Given the description of an element on the screen output the (x, y) to click on. 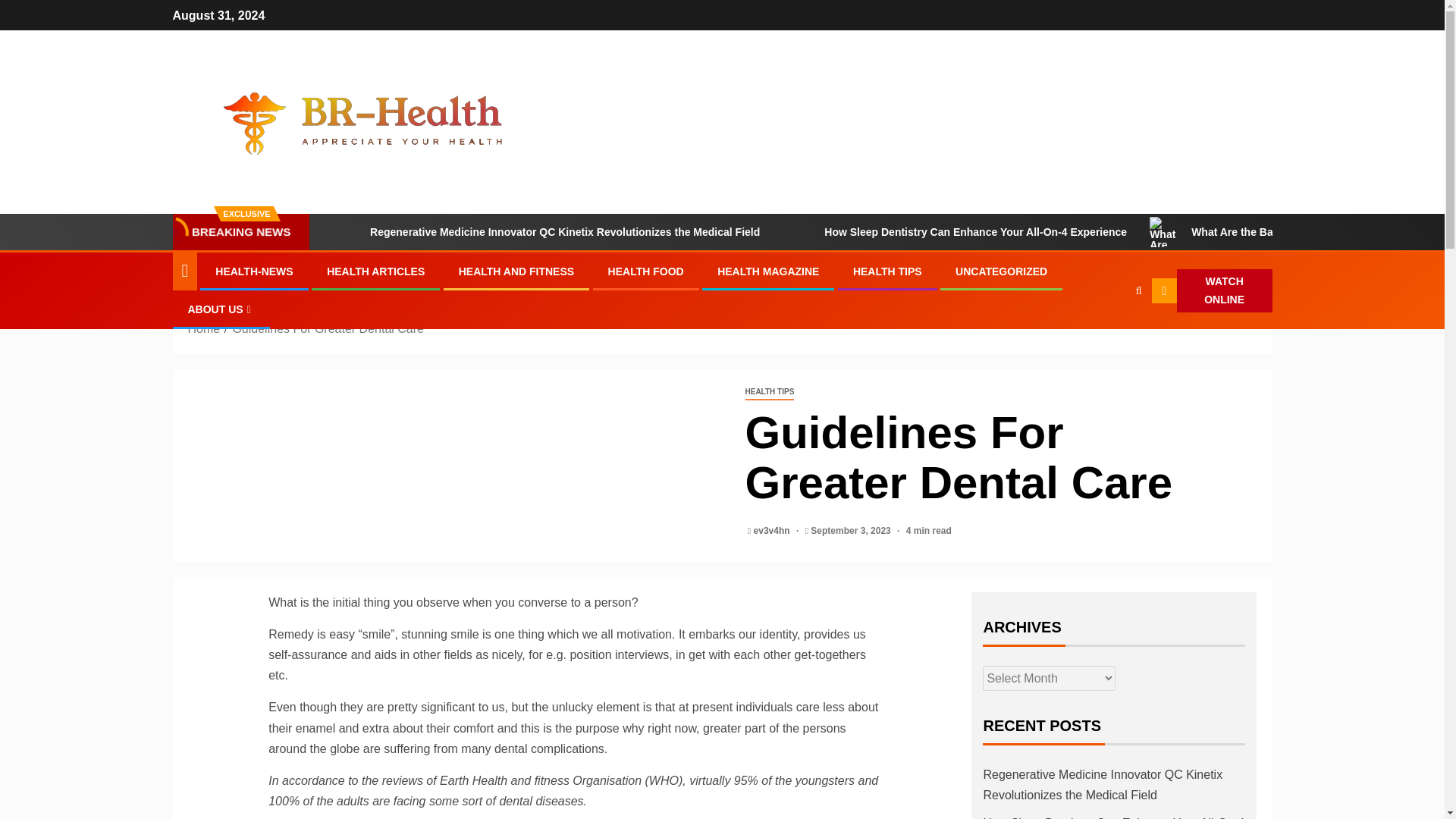
HEALTH-NEWS (253, 271)
HEALTH MAGAZINE (767, 271)
UNCATEGORIZED (1000, 271)
Search (1109, 337)
How Sleep Dentistry Can Enhance Your All-On-4 Experience (954, 232)
HEALTH FOOD (646, 271)
ev3v4hn (773, 530)
HEALTH ARTICLES (375, 271)
HEALTH TIPS (887, 271)
